Given the description of an element on the screen output the (x, y) to click on. 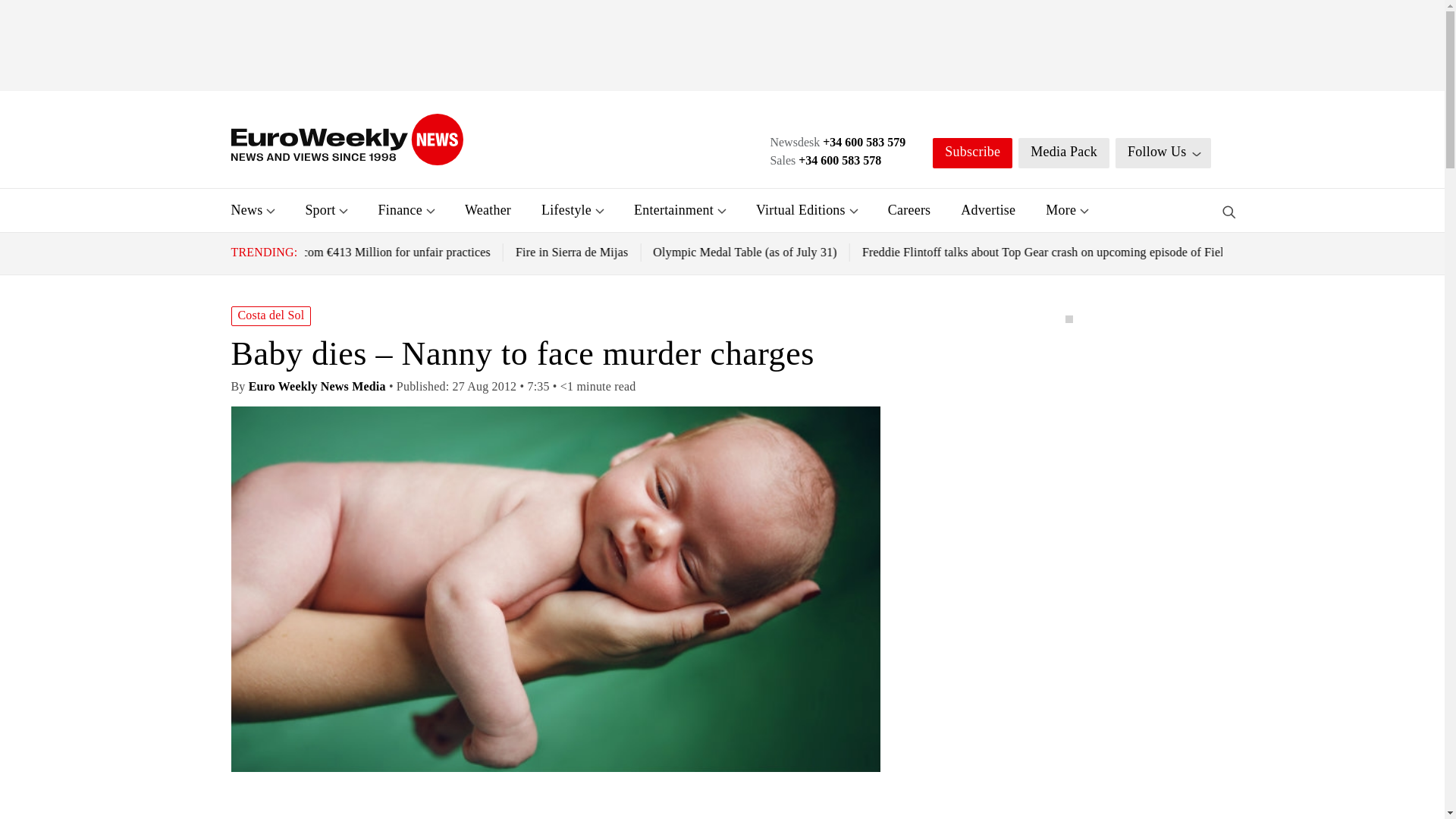
Follow Us (1163, 153)
Subscribe (972, 153)
Media Pack (1063, 153)
News (246, 209)
